Given the description of an element on the screen output the (x, y) to click on. 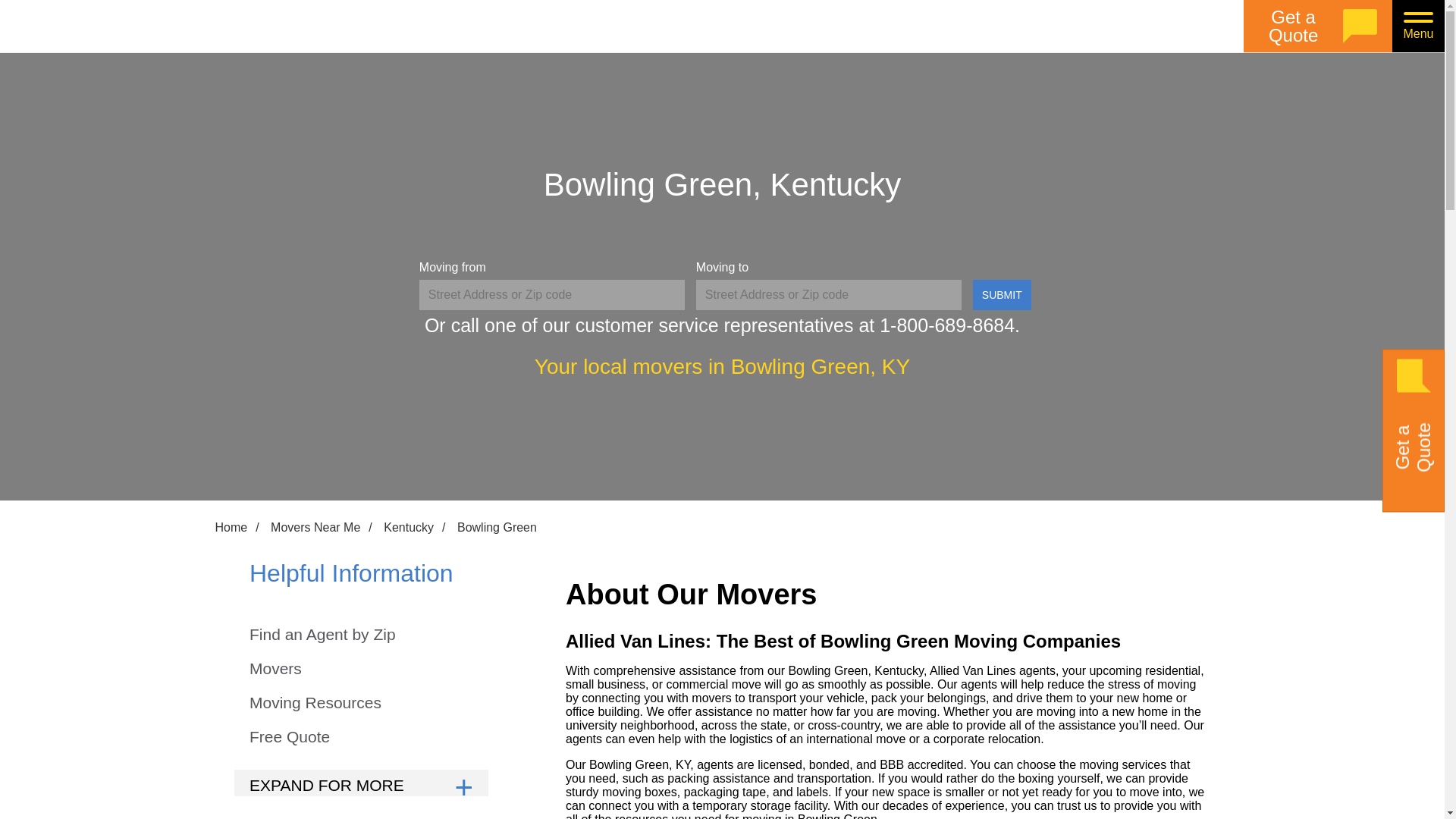
Free Quote (289, 737)
Bowling Green (496, 527)
Movers (274, 668)
Allied Movers (170, 26)
Allied Van Lines (170, 26)
Call a customer service representative (946, 324)
1-800-689-8684 (946, 324)
Find an Agent by Zip (322, 634)
Moving Resources (314, 703)
Get a Quote (1317, 26)
Movers Near Me (315, 527)
Kentucky (408, 527)
SUBMIT (1001, 295)
Home (231, 527)
